Given the description of an element on the screen output the (x, y) to click on. 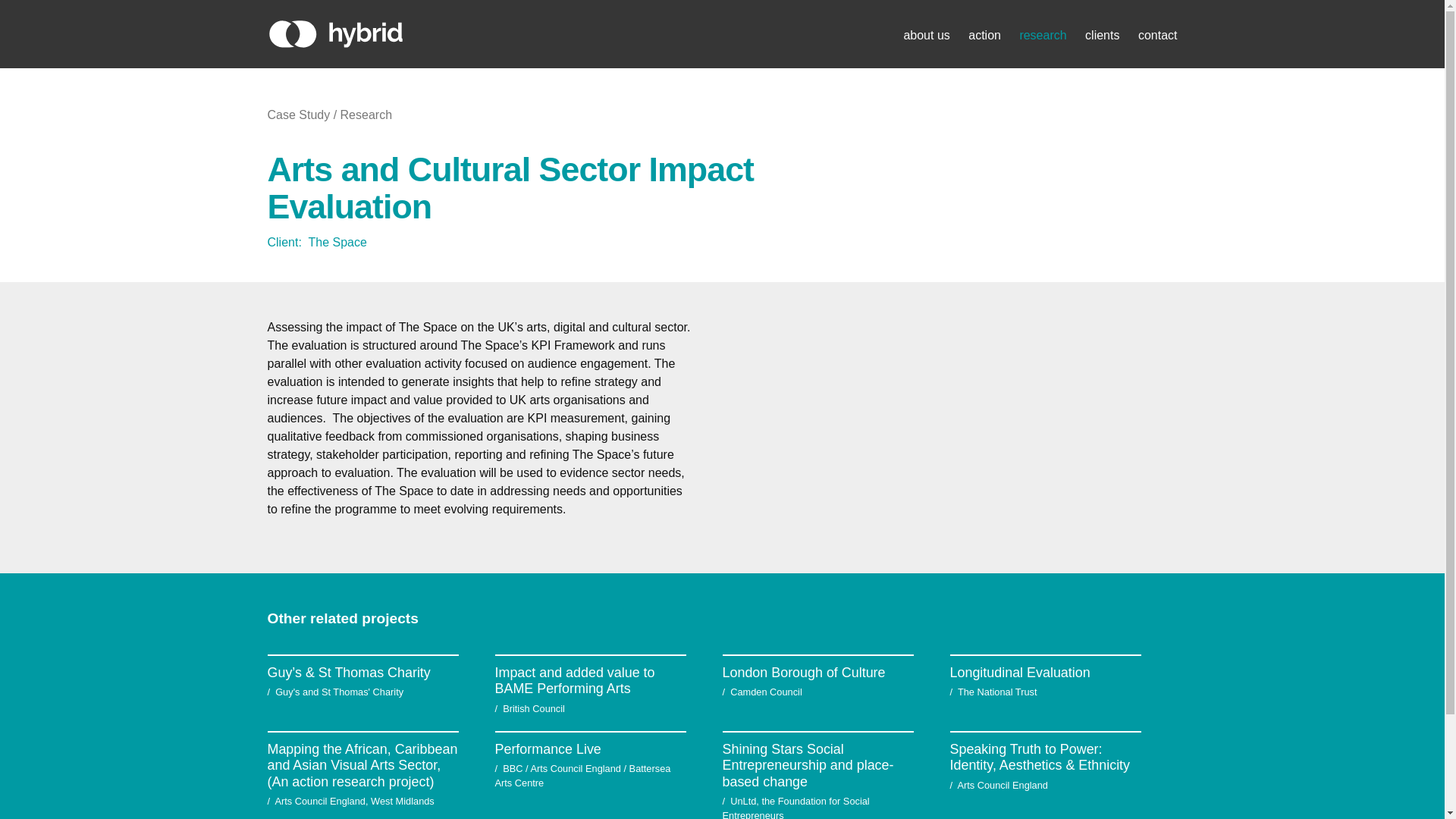
Arts and Cultural Sector Impact Evaluation (510, 187)
Arts and Cultural Sector Impact Evaluation (510, 187)
clients (1101, 34)
action (984, 34)
contact (1157, 34)
about us (925, 34)
Research (365, 114)
research (1042, 34)
Hybrid Consulting (334, 33)
